Given the description of an element on the screen output the (x, y) to click on. 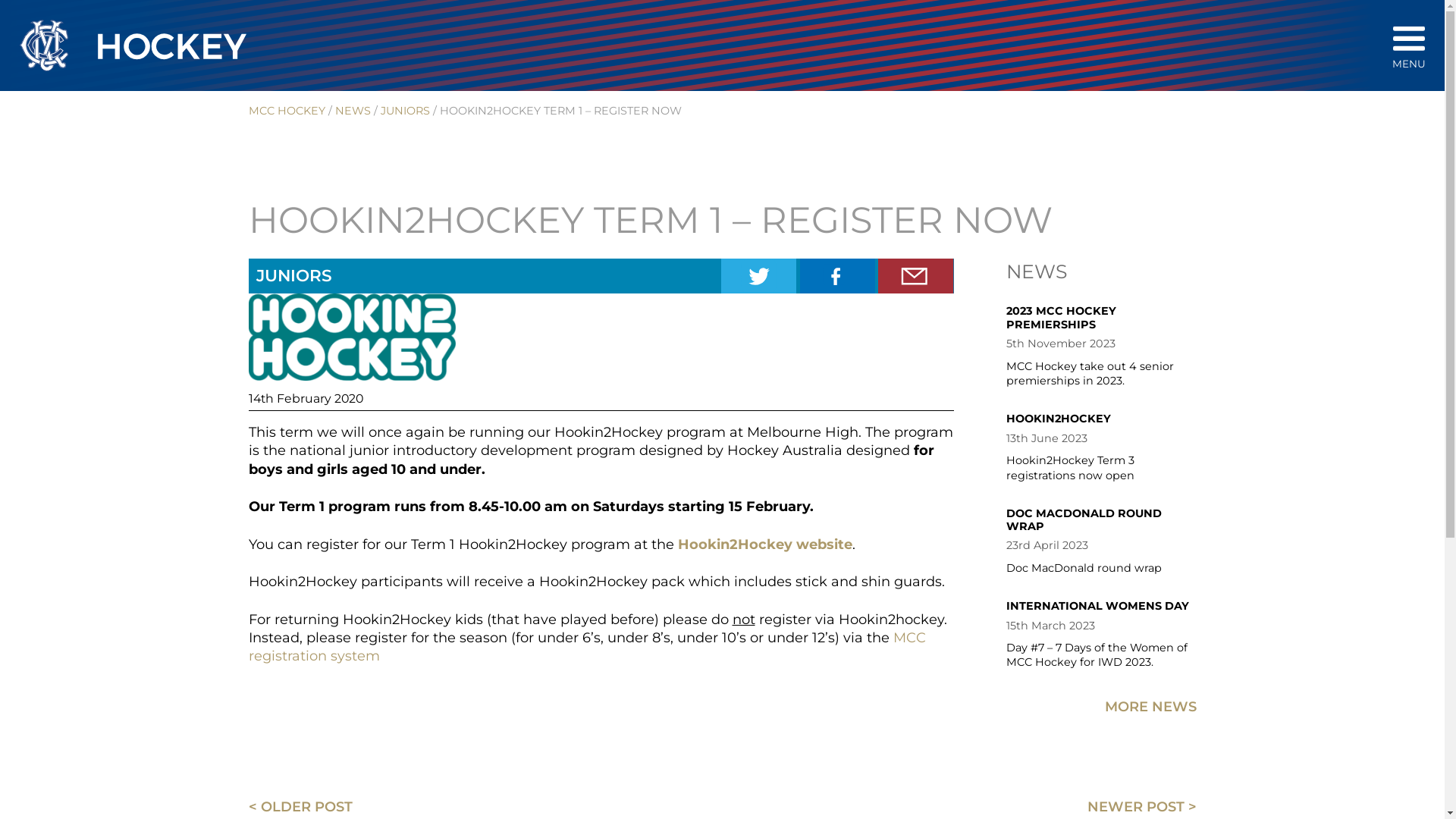
< OLDER POST Element type: text (300, 806)
Hookin2Hockey website Element type: text (764, 544)
NEWER POST > Element type: text (1141, 806)
MENU Element type: text (1408, 47)
Share this via email Element type: hover (915, 275)
MCC HOCKEY Element type: text (286, 110)
JUNIORS Element type: text (404, 110)
Share this on Facebook Element type: hover (837, 275)
NEWS Element type: text (352, 110)
Share this on Twitter Element type: hover (758, 275)
MCC registration system Element type: text (586, 646)
MORE NEWS Element type: text (1149, 706)
